Given the description of an element on the screen output the (x, y) to click on. 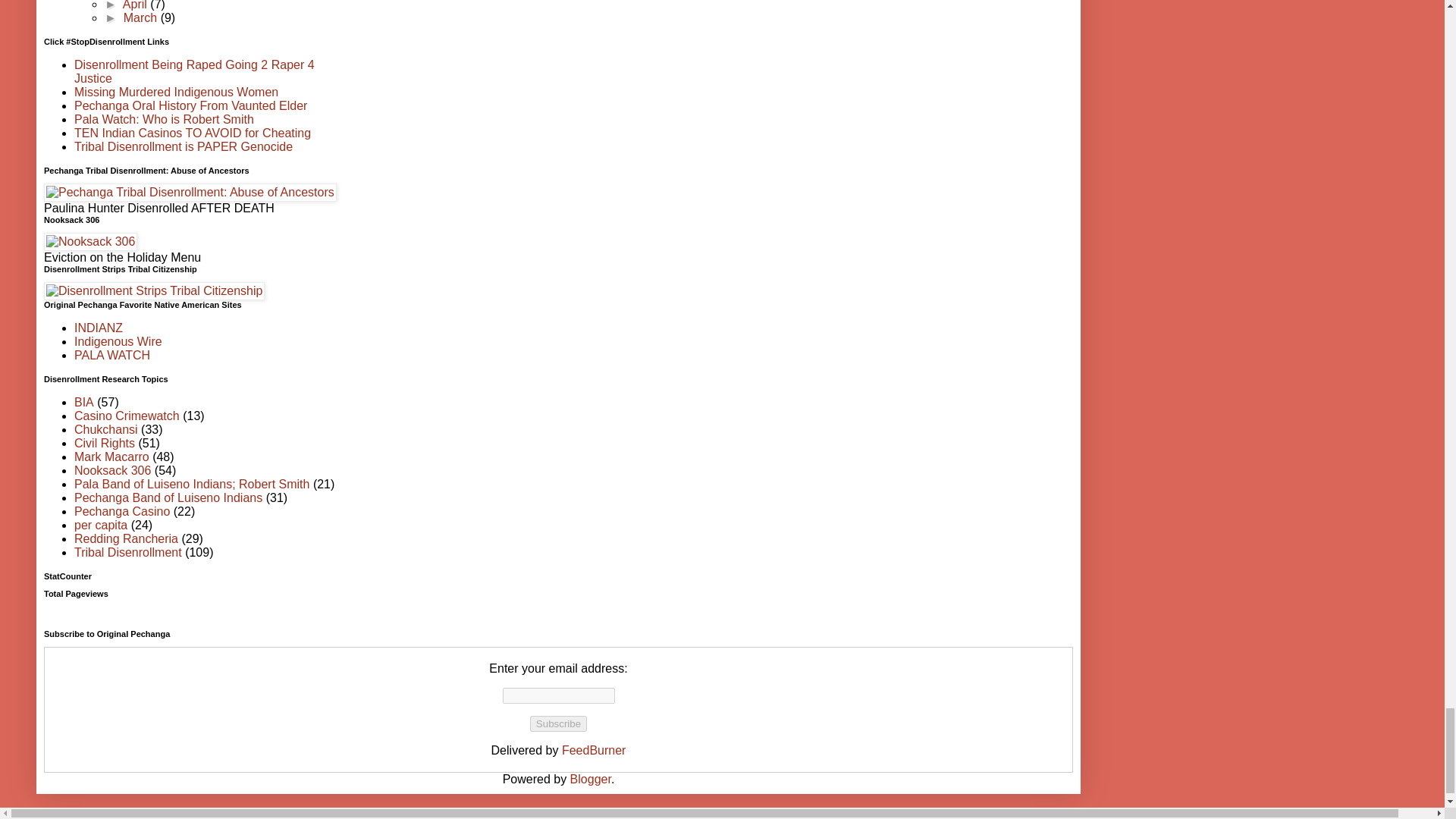
Subscribe (557, 723)
